Given the description of an element on the screen output the (x, y) to click on. 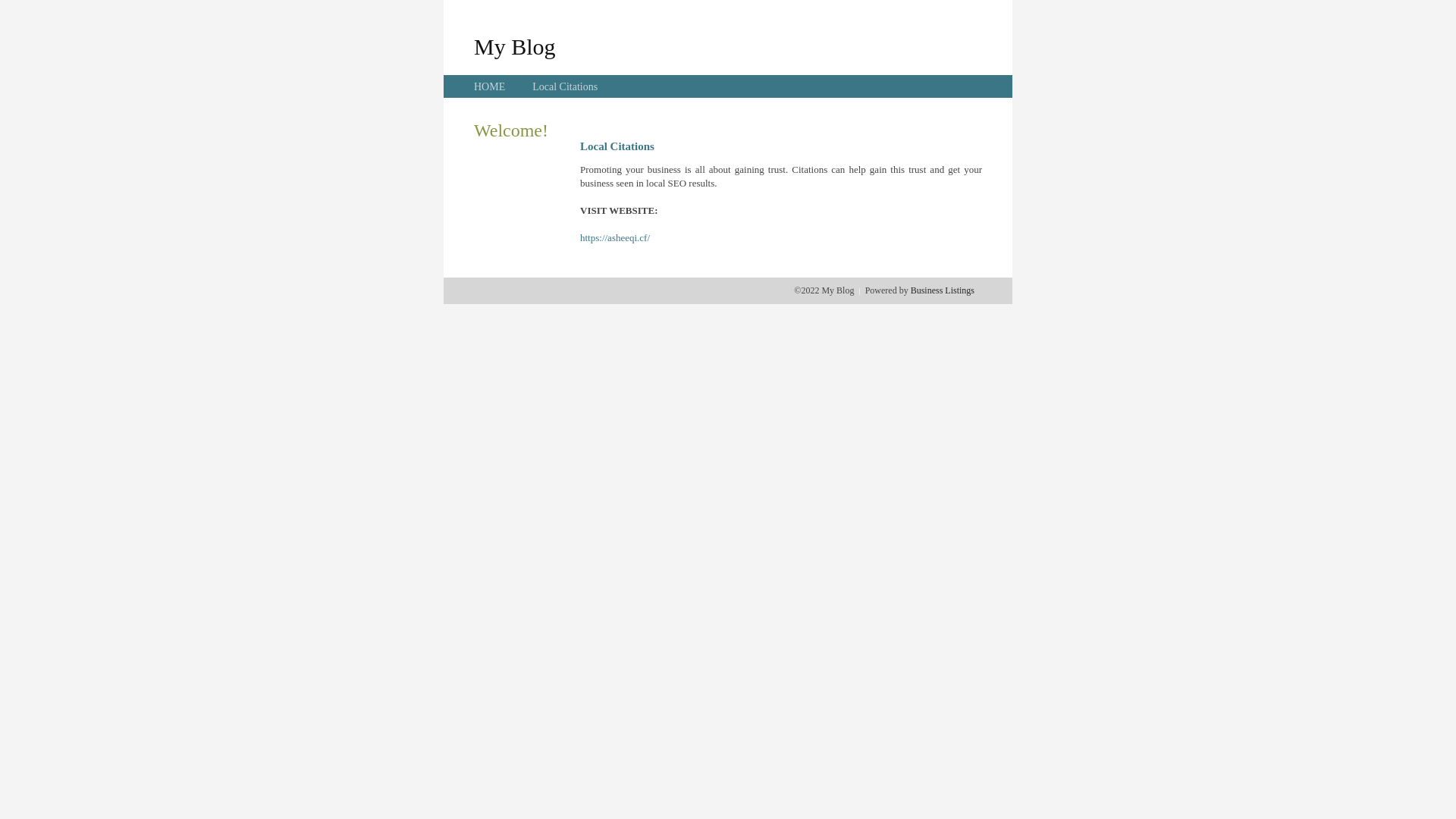
Local Citations Element type: text (564, 86)
https://asheeqi.cf/ Element type: text (614, 237)
Business Listings Element type: text (942, 290)
HOME Element type: text (489, 86)
My Blog Element type: text (514, 46)
